Given the description of an element on the screen output the (x, y) to click on. 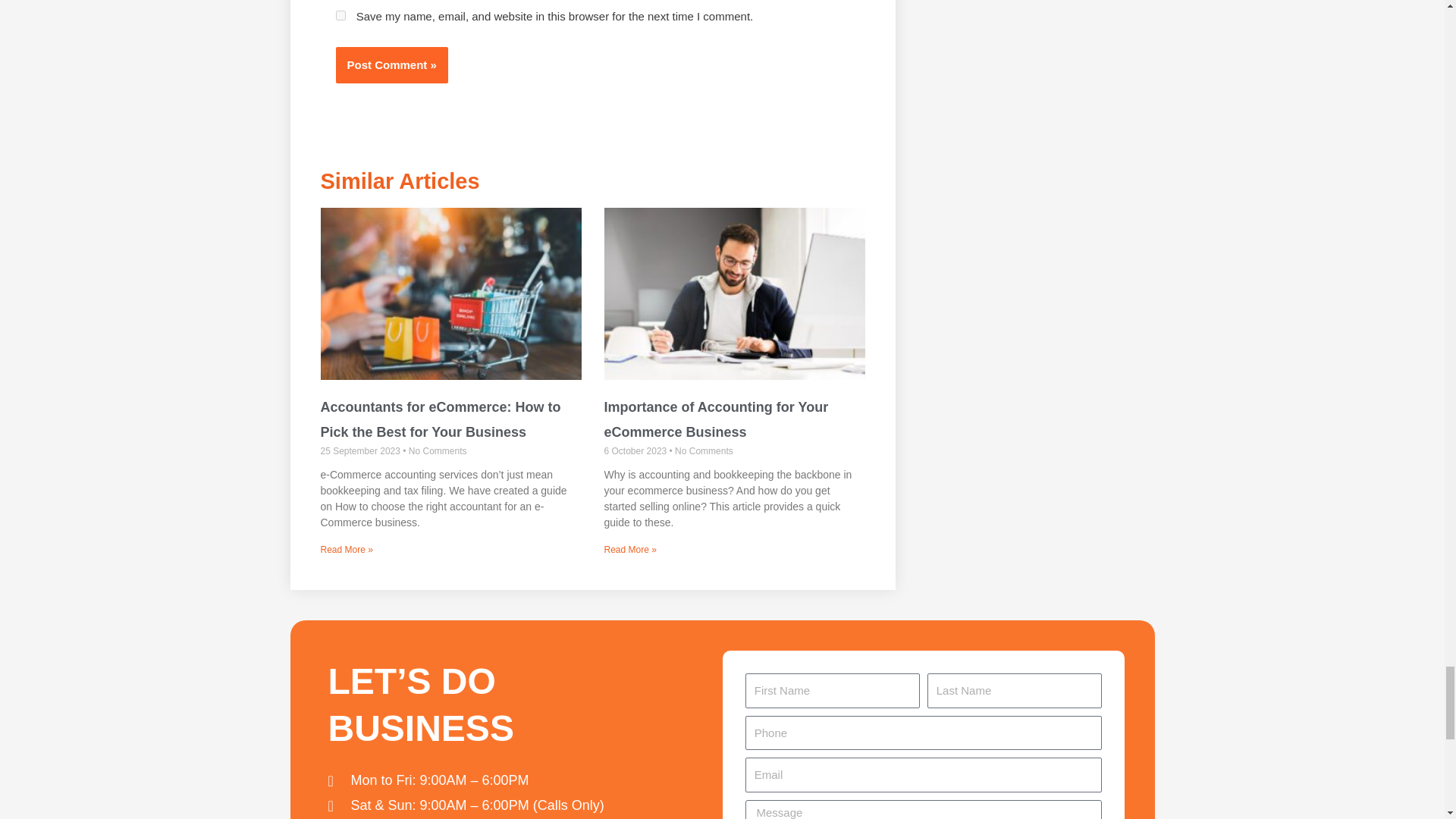
yes (339, 15)
